Given the description of an element on the screen output the (x, y) to click on. 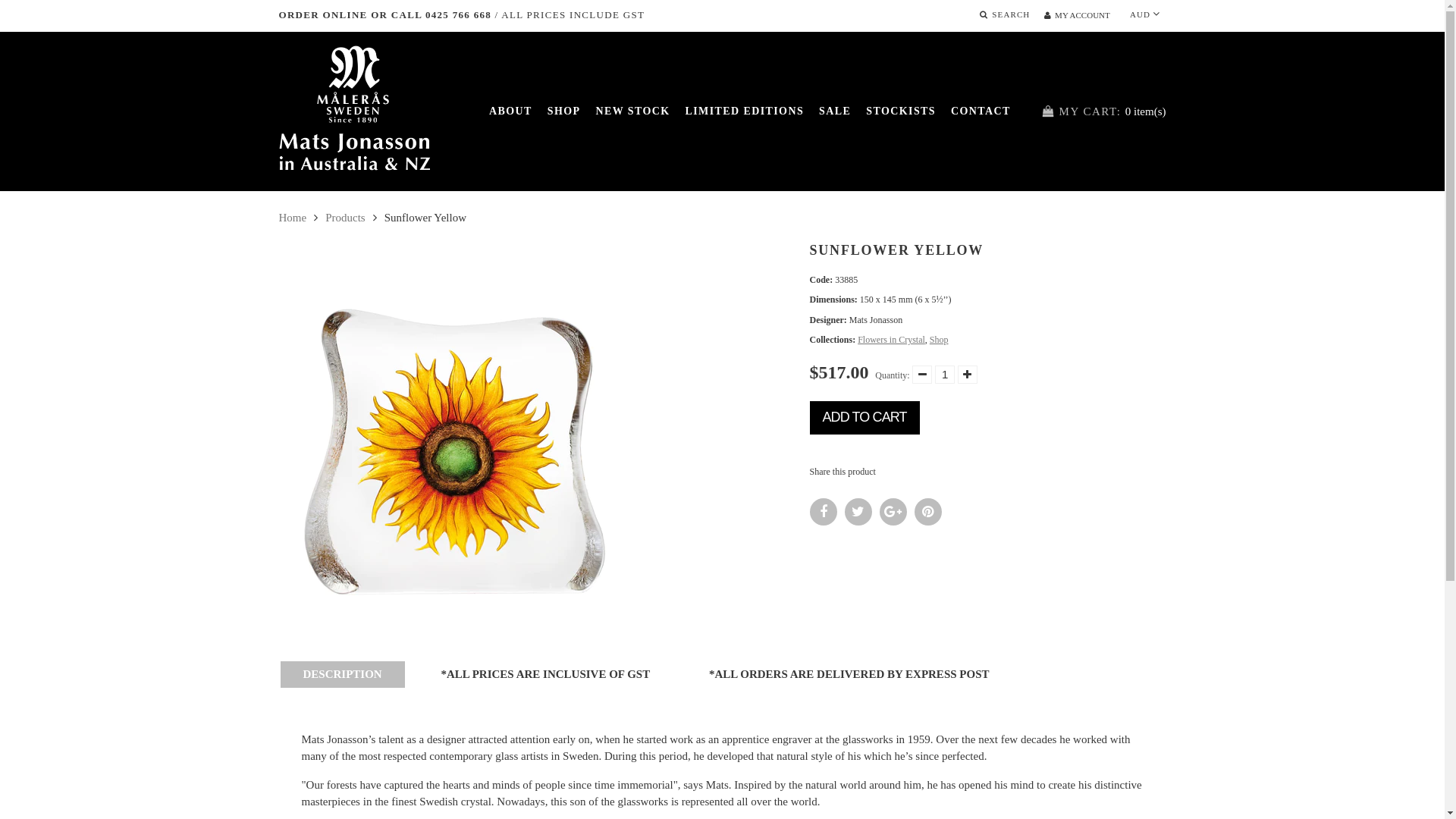
ADD TO CART Element type: text (864, 417)
Products Element type: text (345, 217)
Share Element type: hover (858, 511)
Shop Element type: text (938, 339)
CONTACT Element type: text (980, 111)
Share Element type: hover (892, 511)
LIMITED EDITIONS Element type: text (743, 111)
ABOUT Element type: text (510, 111)
Share Element type: hover (823, 511)
STOCKISTS Element type: text (900, 111)
MY CART: 0 item(s) Element type: text (1103, 111)
NEW STOCK Element type: text (632, 111)
SALE Element type: text (834, 111)
Home Element type: text (293, 217)
Flowers in Crystal Element type: text (891, 339)
MY ACCOUNT Element type: text (1077, 14)
SHOP Element type: text (563, 111)
Share Element type: hover (927, 511)
